Given the description of an element on the screen output the (x, y) to click on. 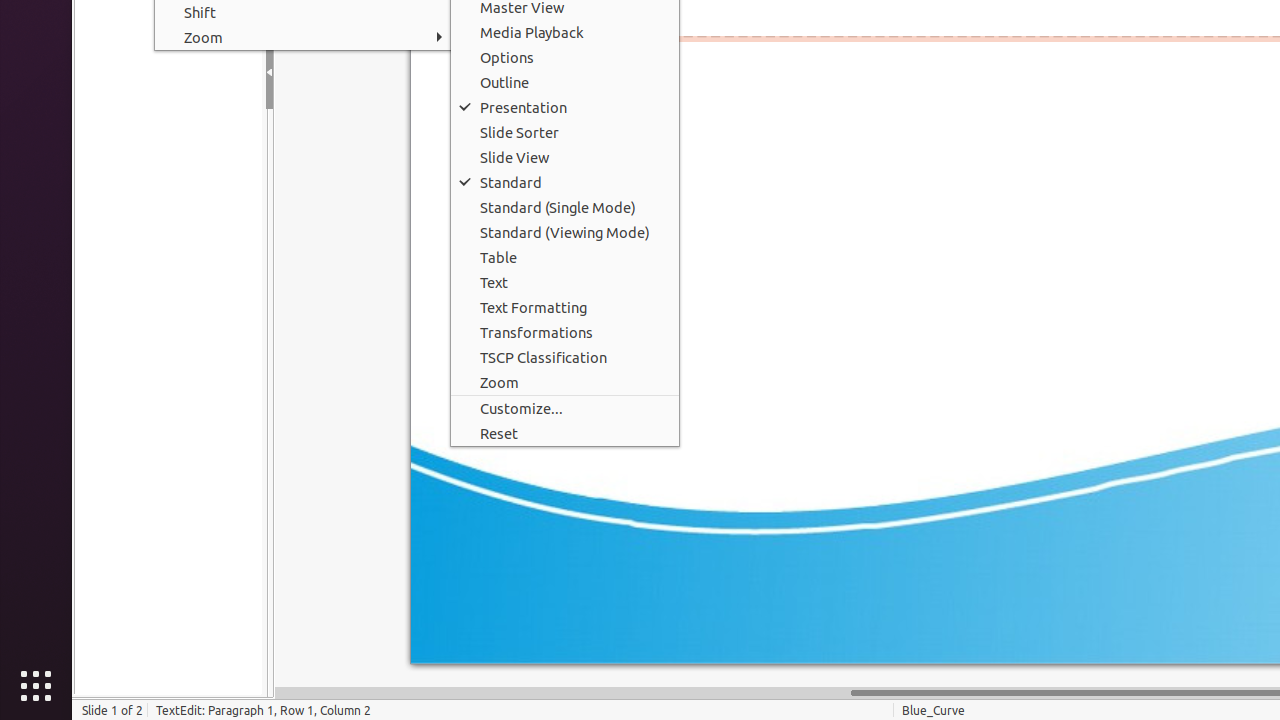
Slide View Element type: check-menu-item (565, 157)
Shift Element type: menu-item (304, 12)
Customize... Element type: menu-item (565, 408)
